Given the description of an element on the screen output the (x, y) to click on. 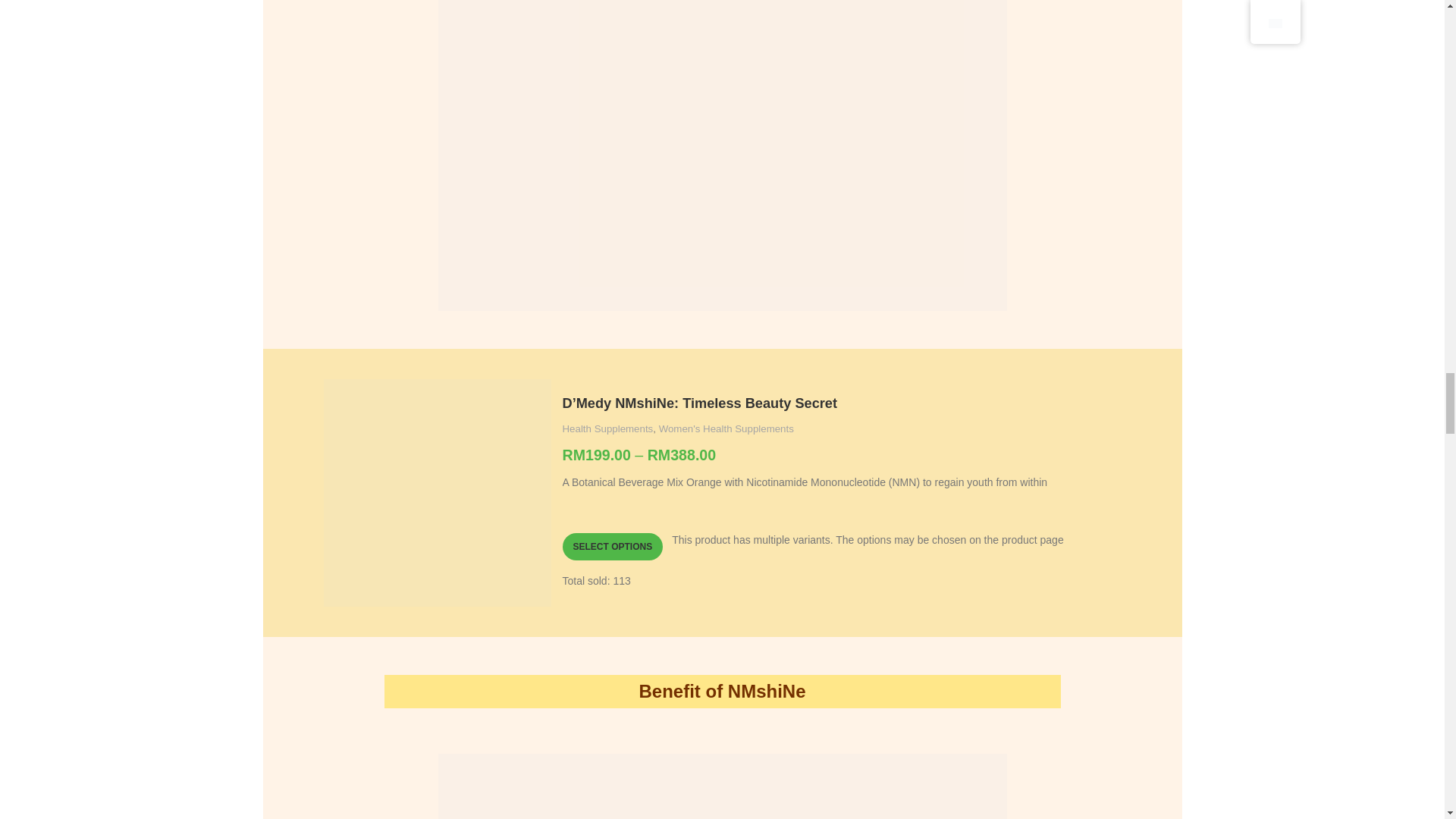
6 nmshine benefit (722, 786)
Women's Health Supplements (726, 429)
Health Supplements (607, 429)
SELECT OPTIONS (612, 546)
